Given the description of an element on the screen output the (x, y) to click on. 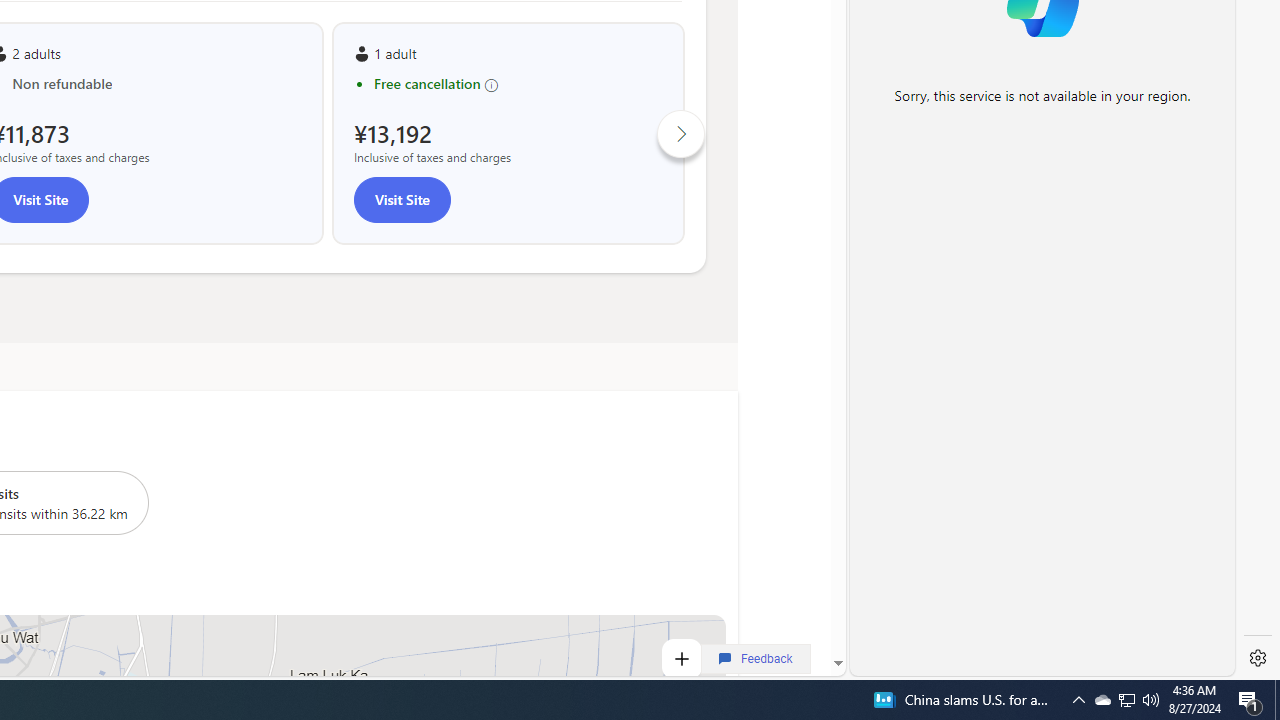
Free cancellation (518, 83)
Zoom in (680, 658)
Click to scroll right (681, 132)
Non refundable (156, 83)
Visit Site (401, 200)
